Given the description of an element on the screen output the (x, y) to click on. 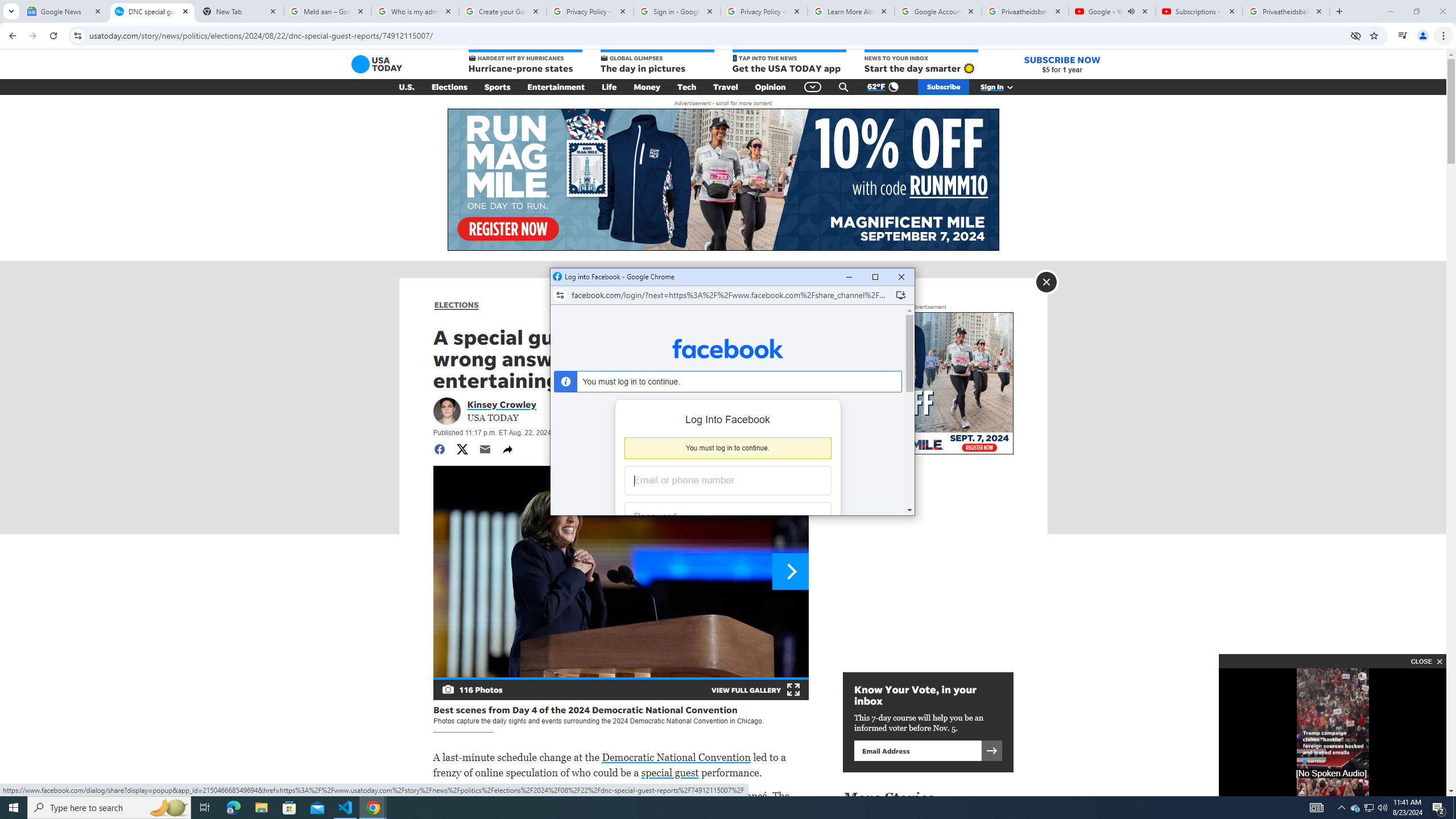
Sign in - Google Accounts (676, 11)
Entertainment (556, 87)
Global Navigation (812, 87)
Show desktop (1454, 807)
Q2790: 100% (1355, 807)
Democratic National Convention (1382, 807)
Email address (676, 757)
Sports (917, 750)
AutomationID: 4105 (497, 87)
